Given the description of an element on the screen output the (x, y) to click on. 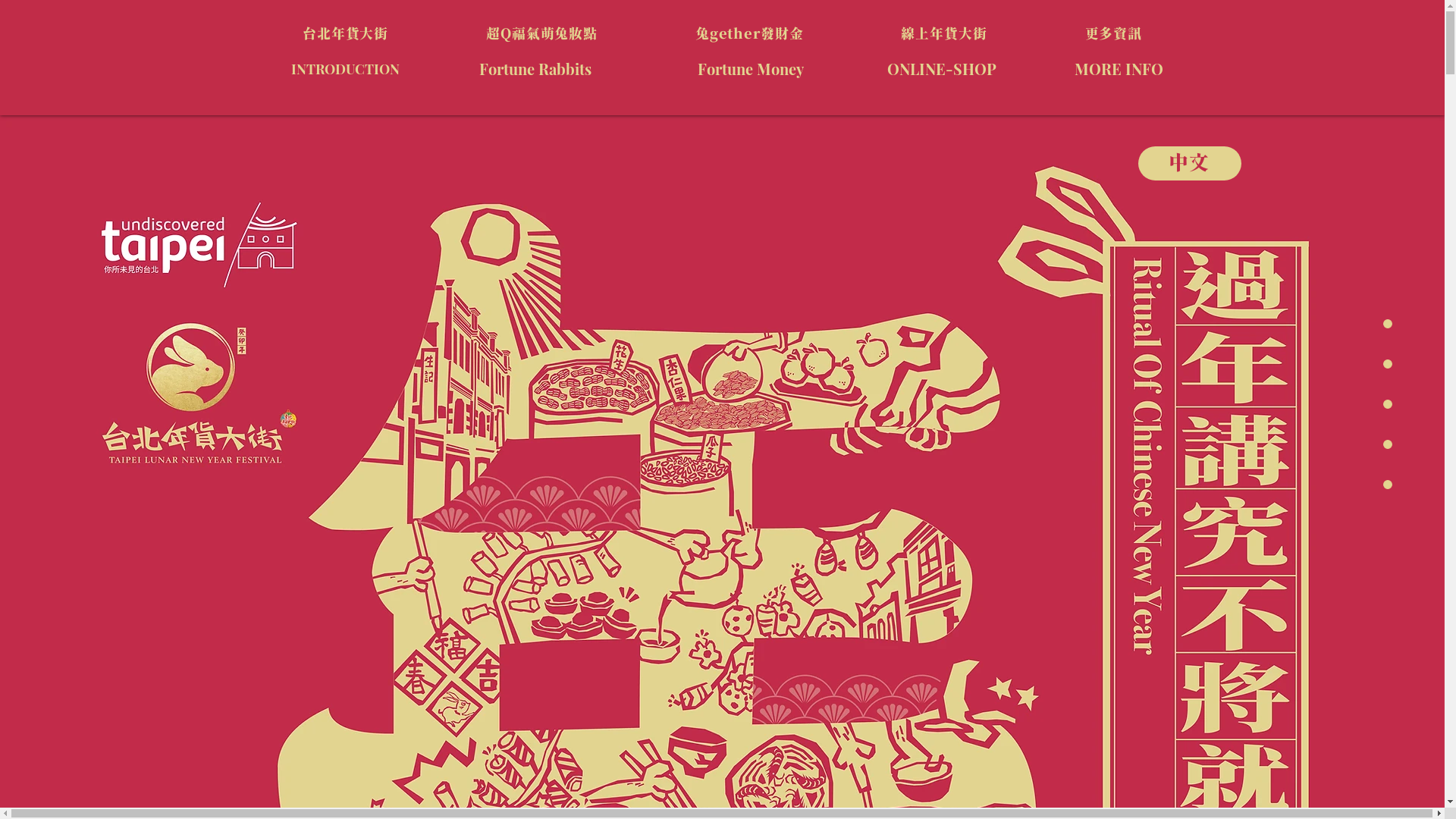
INTRODUCTION Element type: text (345, 68)
ONLINE-SHOP Element type: text (942, 68)
Fortune Rabbits Element type: text (535, 68)
Fortune Money Element type: text (751, 68)
MORE INFO Element type: text (1118, 68)
